Given the description of an element on the screen output the (x, y) to click on. 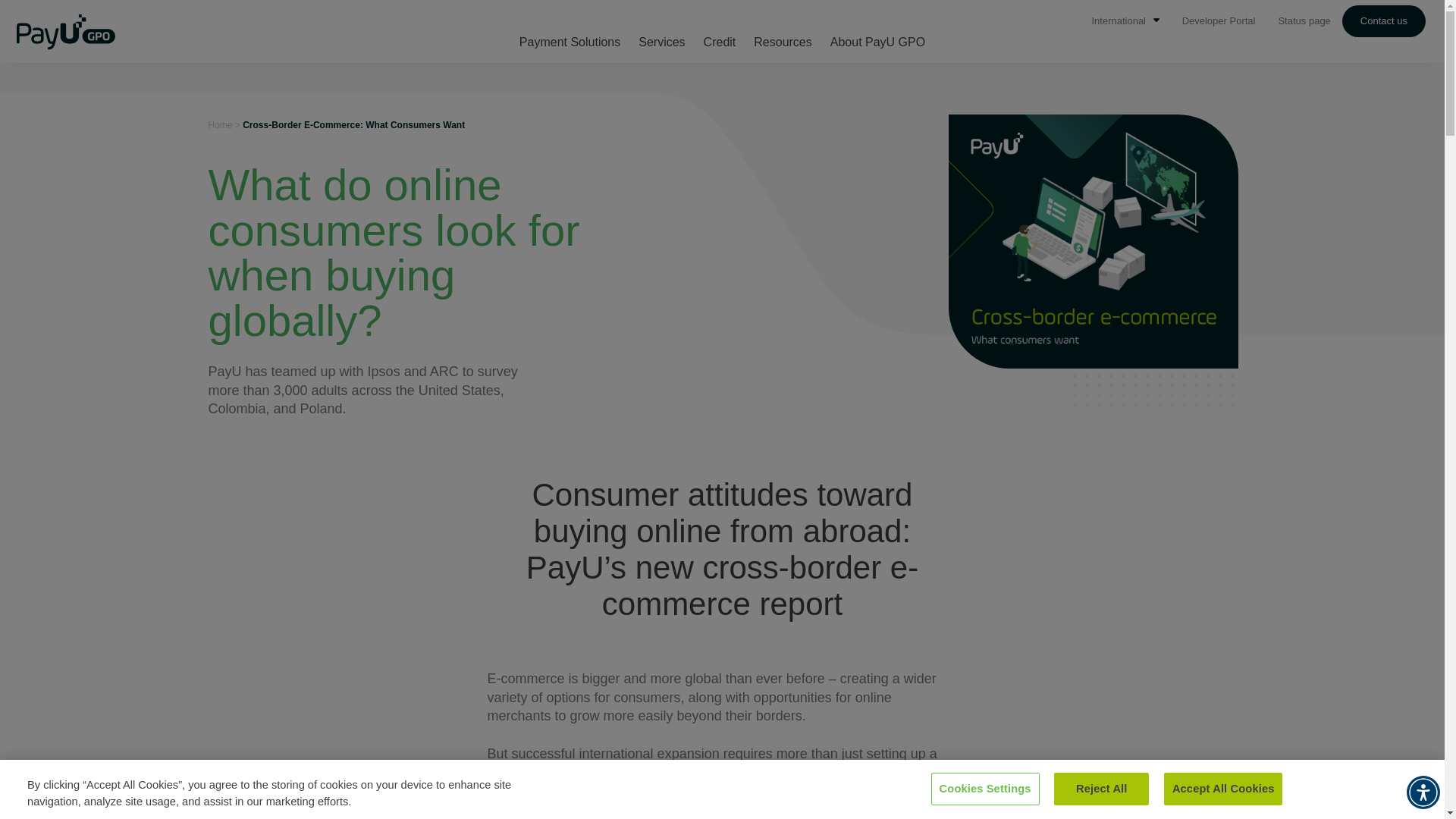
Status page (1304, 20)
Payment Solutions (569, 32)
Developer Portal (1218, 20)
Accessibility Menu (1422, 792)
Contact us (1383, 20)
